Given the description of an element on the screen output the (x, y) to click on. 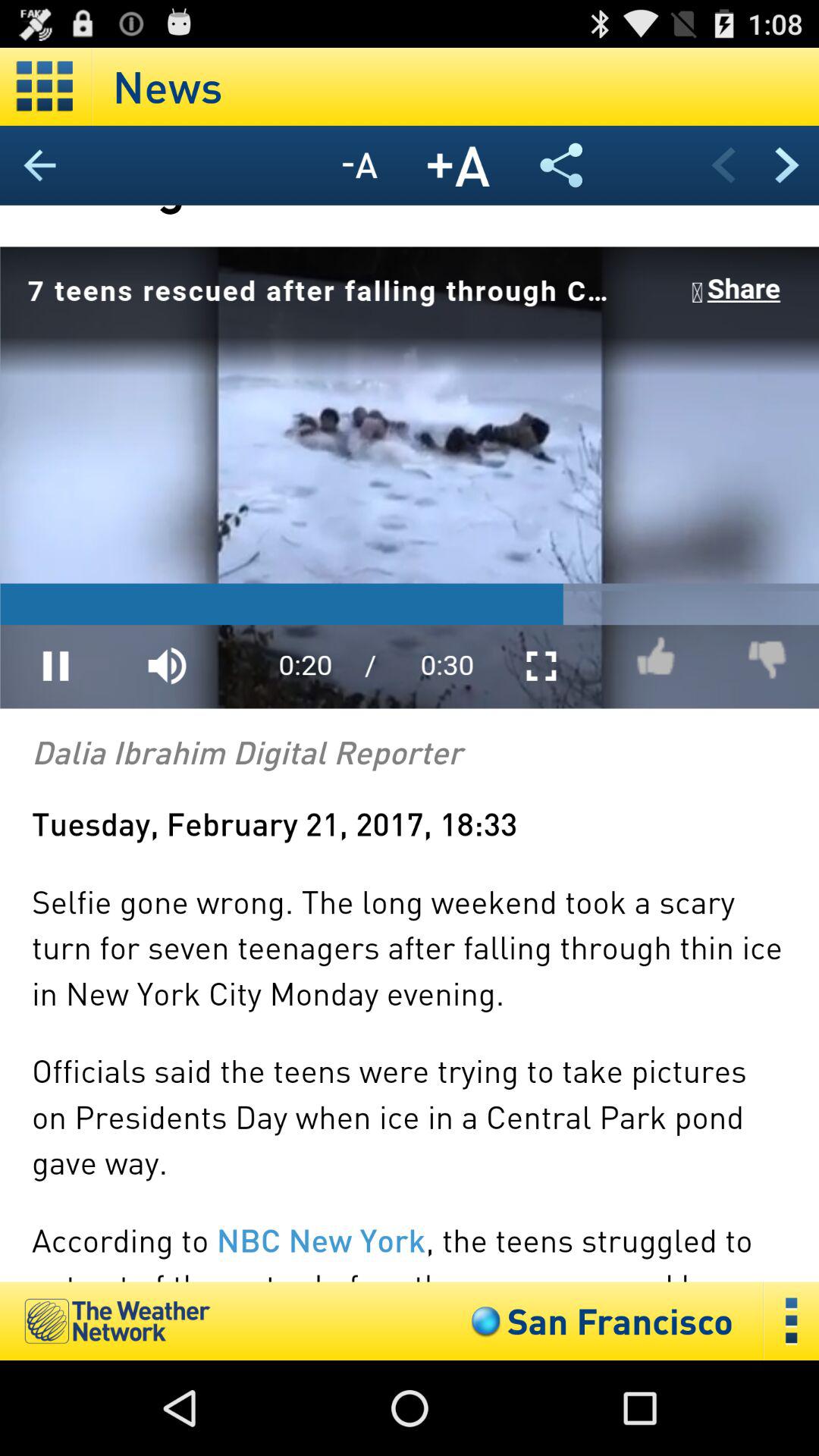
more options (791, 1320)
